Given the description of an element on the screen output the (x, y) to click on. 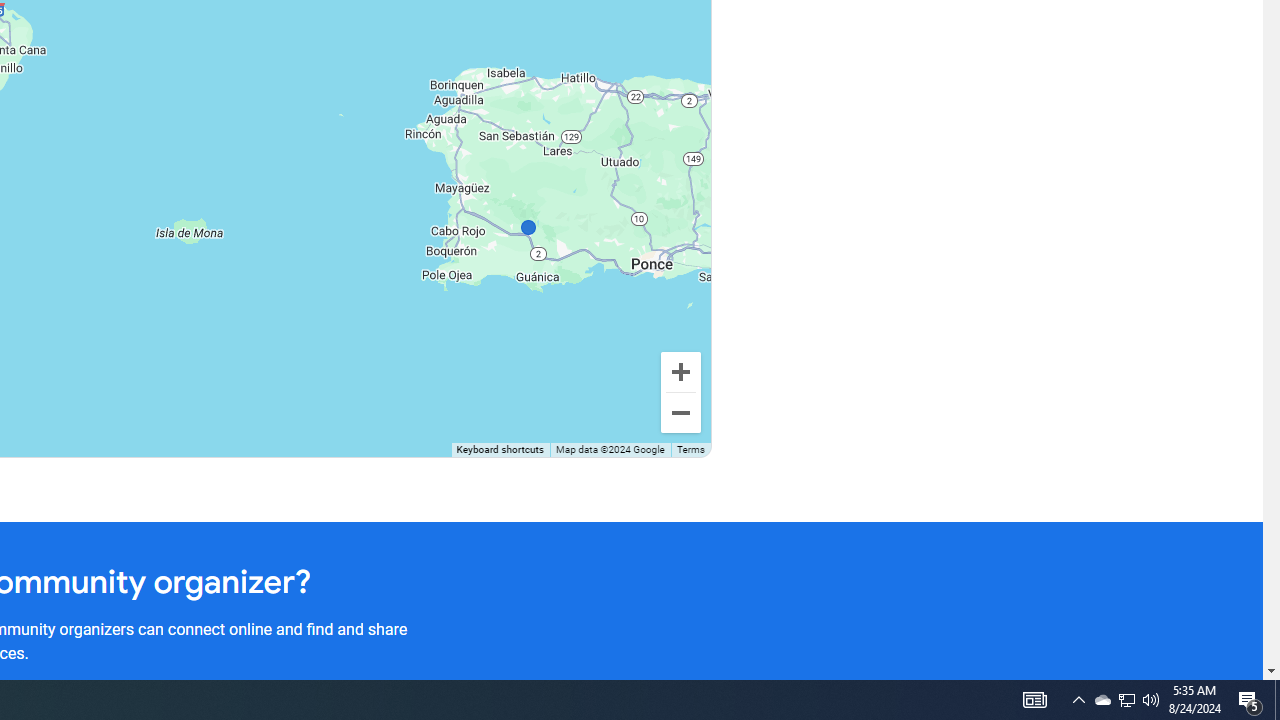
Zoom out (680, 412)
Zoom in (680, 371)
Keyboard shortcuts (499, 449)
